Given the description of an element on the screen output the (x, y) to click on. 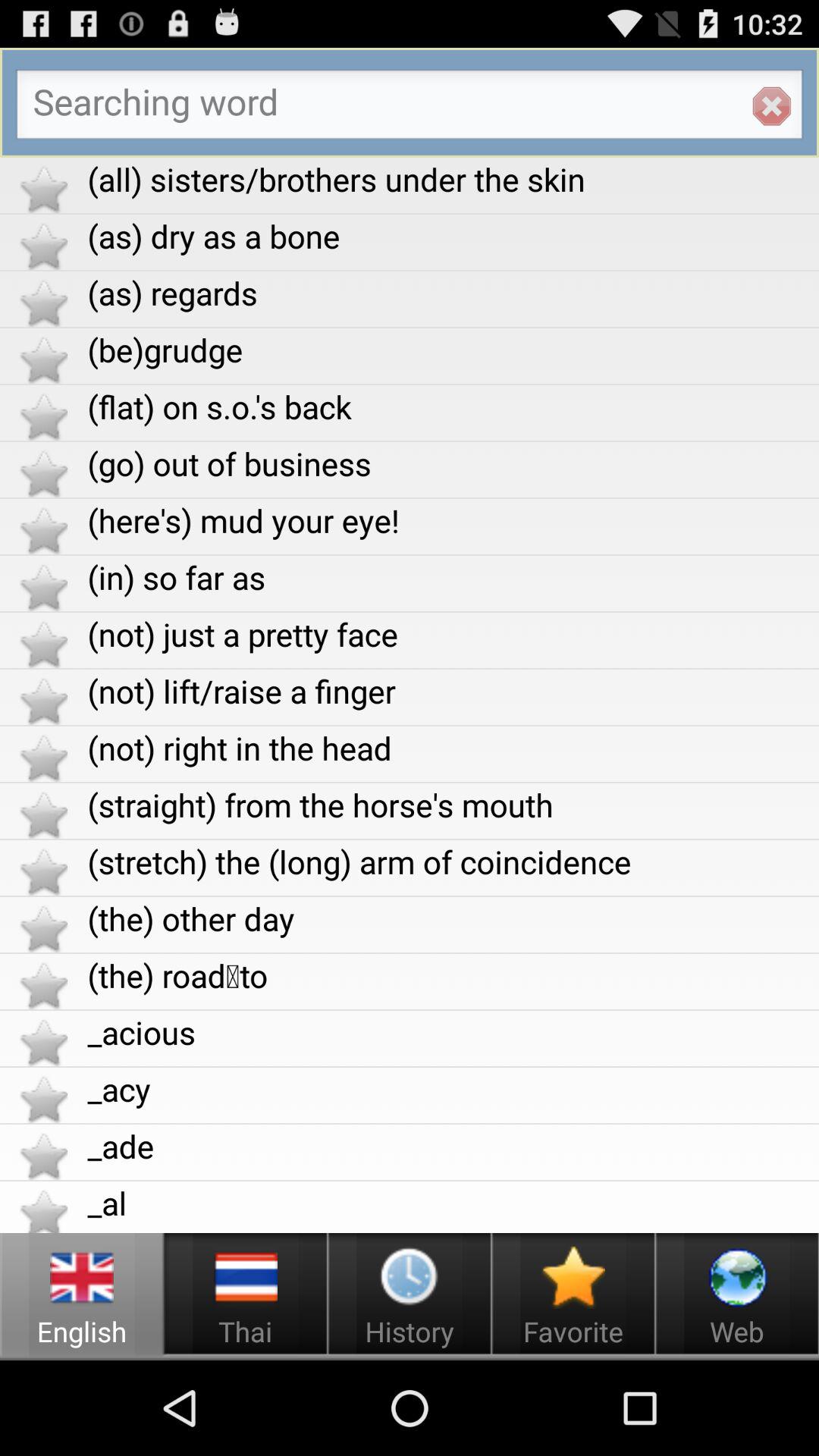
launch app above (be)grudge app (453, 292)
